Given the description of an element on the screen output the (x, y) to click on. 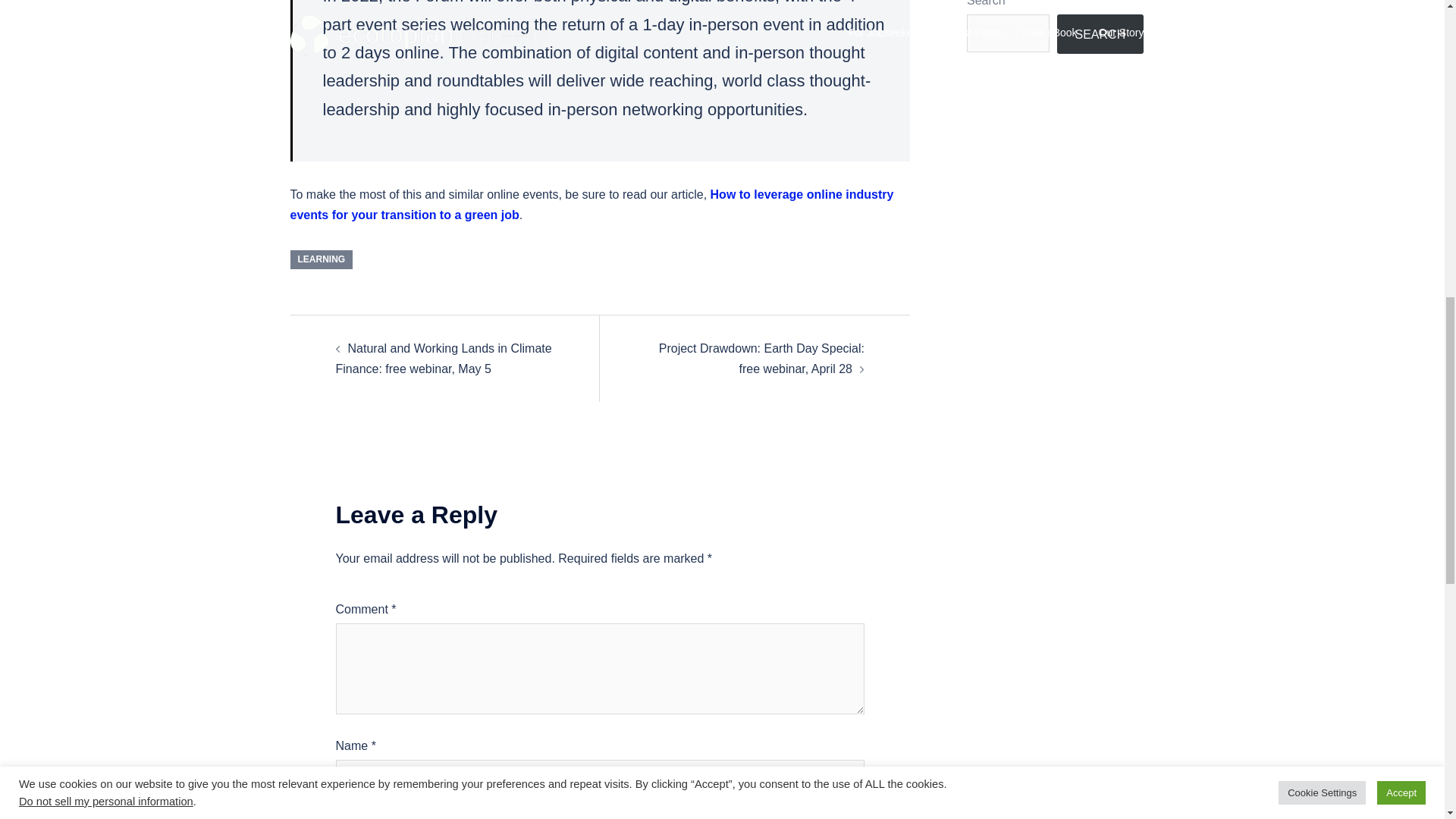
SEARCH (1099, 34)
Project Drawdown: Earth Day Special: free webinar, April 28 (761, 358)
LEARNING (320, 259)
